Given the description of an element on the screen output the (x, y) to click on. 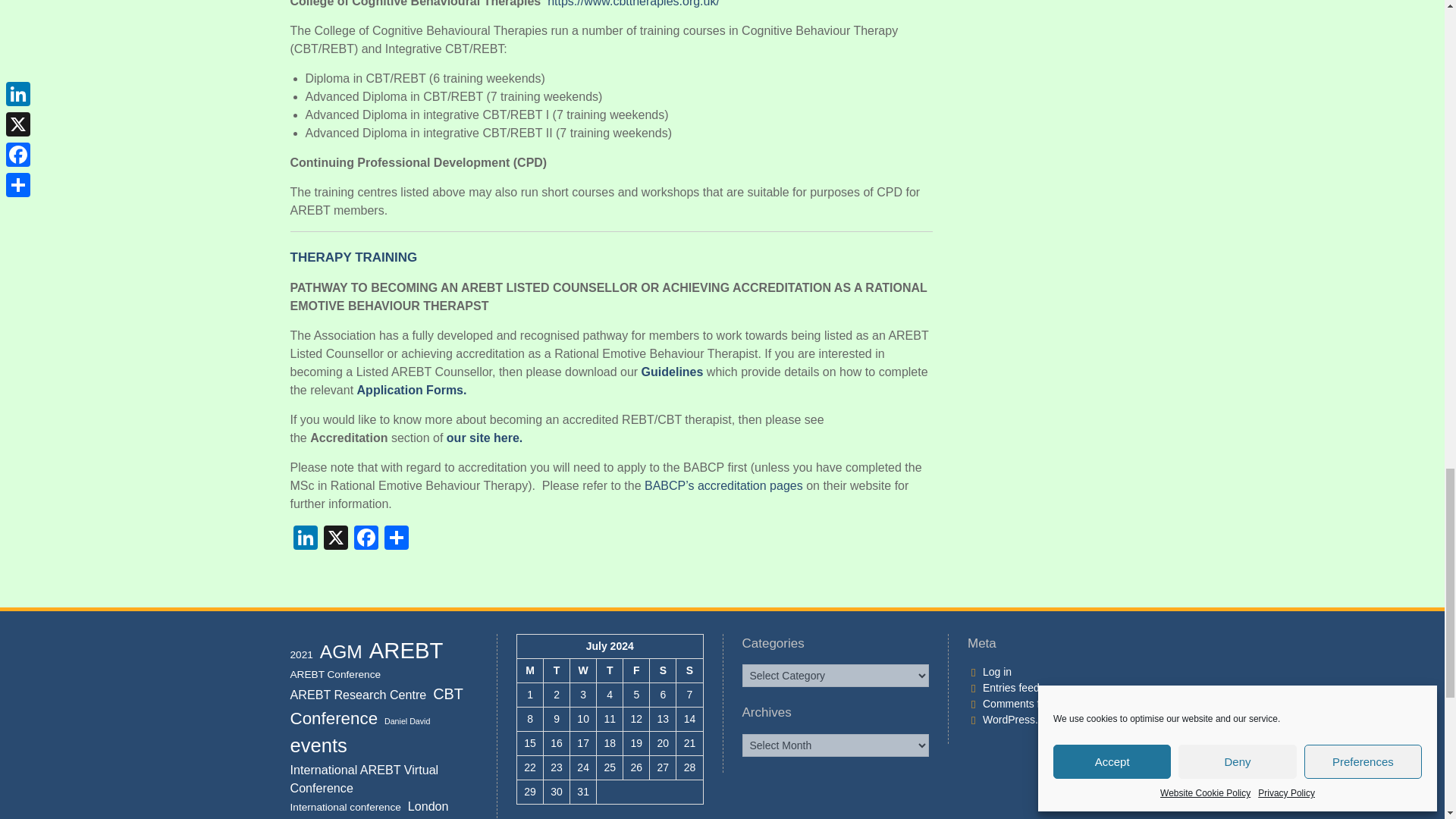
X (335, 538)
Tuesday (556, 670)
LinkedIn (304, 538)
Saturday (663, 670)
Monday (529, 670)
Sunday (690, 670)
Thursday (609, 670)
Facebook (365, 538)
Wednesday (583, 670)
Friday (636, 670)
